Given the description of an element on the screen output the (x, y) to click on. 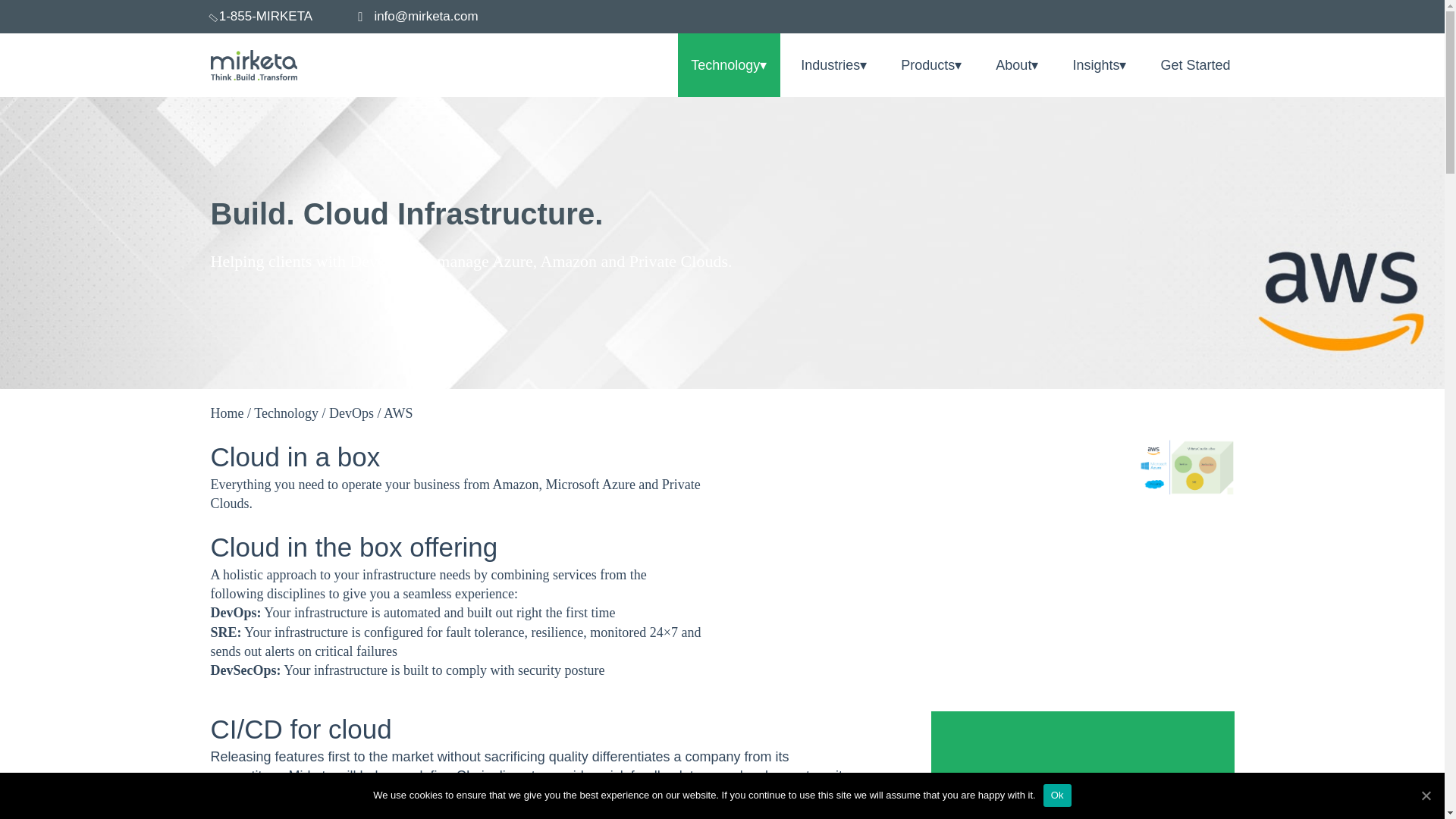
Cloud in the box (1186, 466)
1-855-MIRKETA (290, 16)
